Given the description of an element on the screen output the (x, y) to click on. 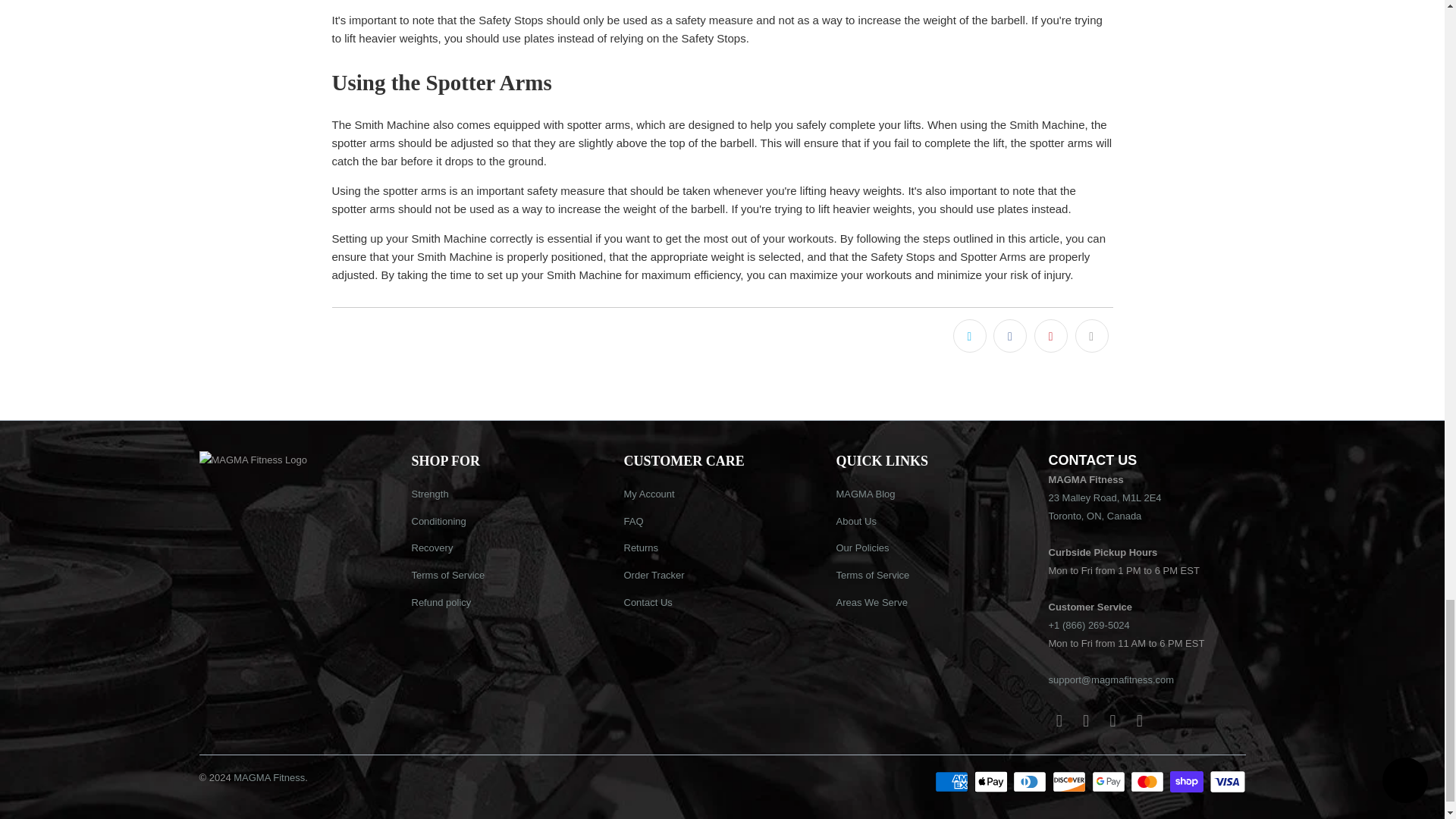
Apple Pay (992, 781)
Share this on Twitter (970, 335)
Diners Club (1031, 781)
Google Pay (1110, 781)
Mastercard (1149, 781)
Shop Pay (1188, 781)
MAGMA Fitness on YouTube (1086, 720)
American Express (952, 781)
Visa (1226, 781)
Share this on Facebook (1009, 335)
